Given the description of an element on the screen output the (x, y) to click on. 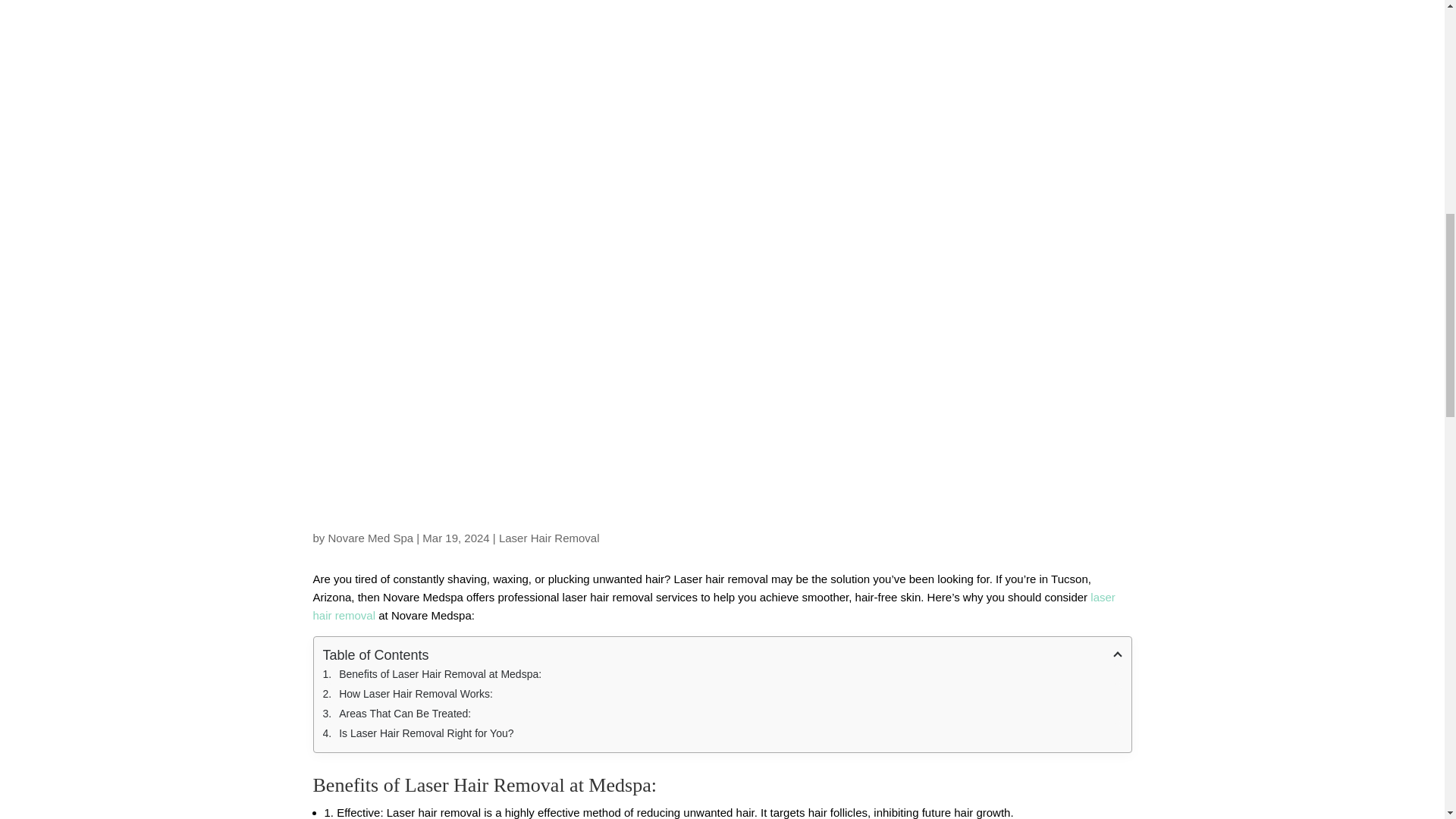
Benefits of Laser Hair Removal at Medspa: (722, 673)
Laser Hair Removal (549, 537)
Areas That Can Be Treated: (722, 713)
Is Laser Hair Removal Right for You? (722, 732)
Novare Med Spa (371, 537)
How Laser Hair Removal Works: (722, 693)
laser hair removal (714, 605)
Posts by Novare Med Spa (371, 537)
